Given the description of an element on the screen output the (x, y) to click on. 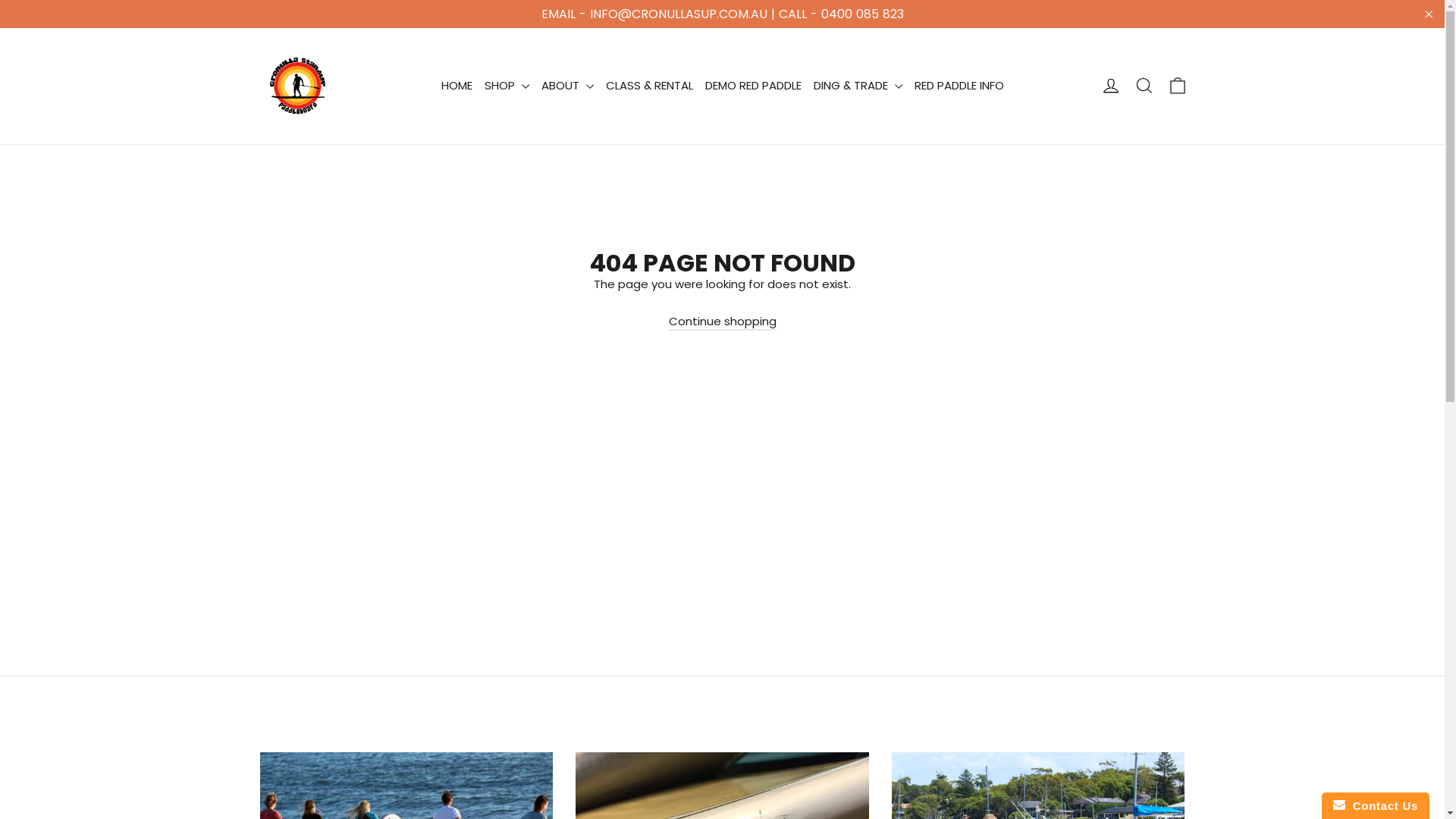
Search Element type: text (1143, 85)
Log in Element type: text (1109, 85)
CLASS & RENTAL Element type: text (648, 85)
HOME Element type: text (456, 85)
"Close" Element type: text (1428, 13)
ABOUT Element type: text (567, 85)
Skip to content Element type: text (0, 0)
RED PADDLE INFO Element type: text (959, 85)
EMAIL - INFO@CRONULLASUP.COM.AU | CALL - 0400 085 823 Element type: text (722, 14)
DEMO RED PADDLE Element type: text (753, 85)
SHOP Element type: text (505, 85)
Continue shopping Element type: text (722, 321)
DING & TRADE Element type: text (856, 85)
Cart Element type: text (1176, 85)
